Given the description of an element on the screen output the (x, y) to click on. 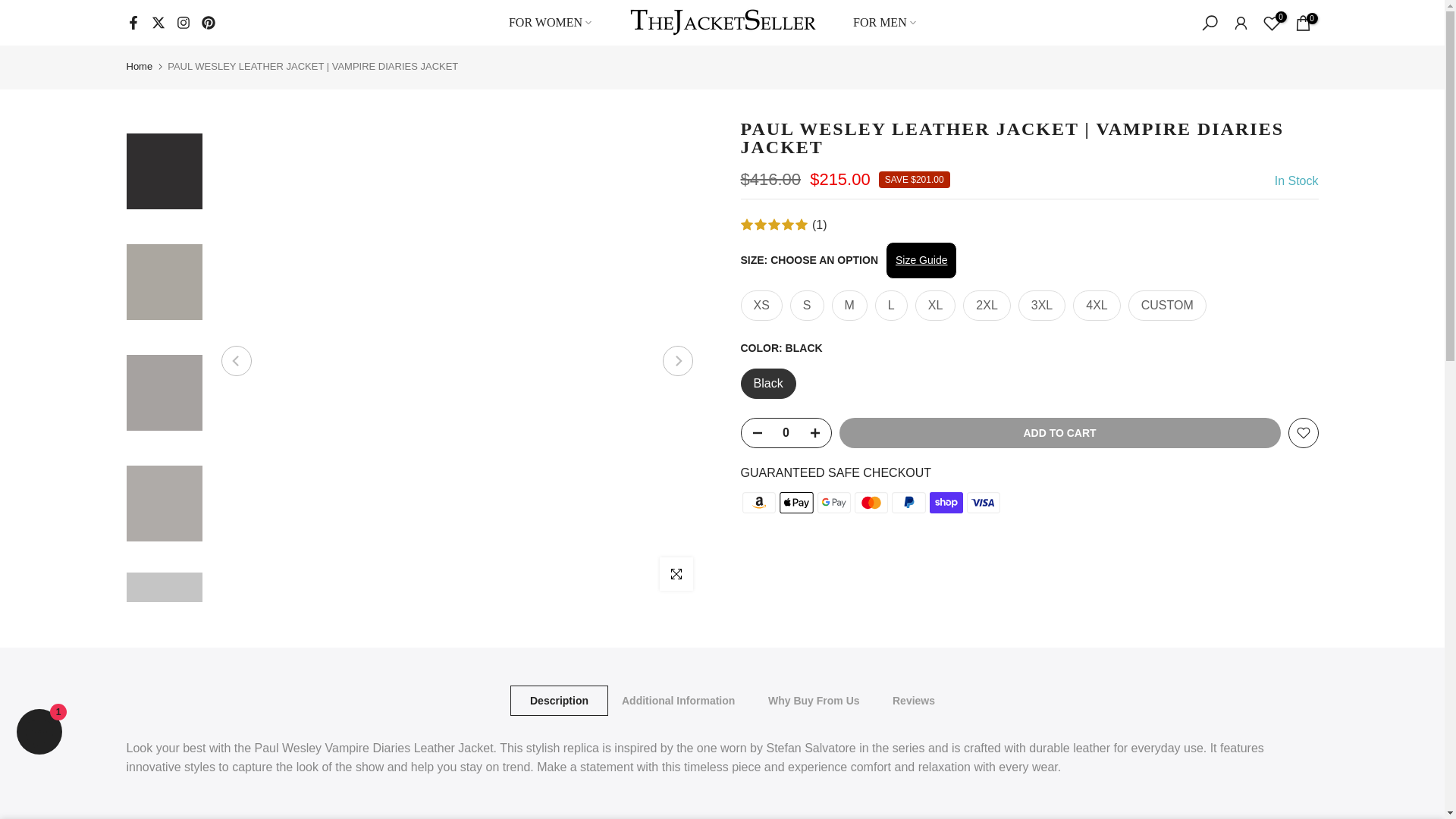
Black (766, 383)
Skip to content (10, 7)
FOR MEN (885, 22)
FOR WOMEN (549, 22)
0 (786, 432)
